Given the description of an element on the screen output the (x, y) to click on. 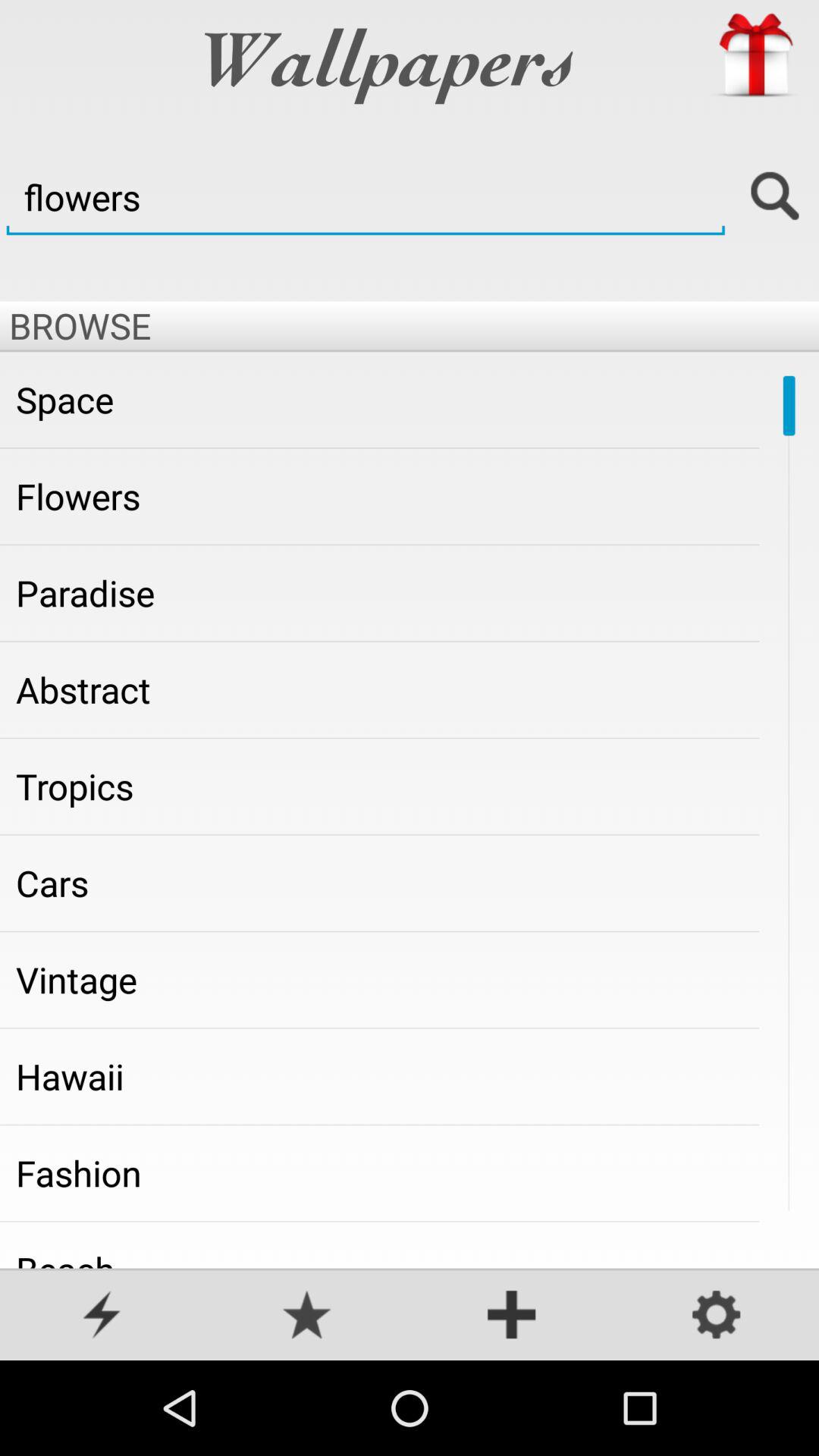
search option (775, 197)
